Given the description of an element on the screen output the (x, y) to click on. 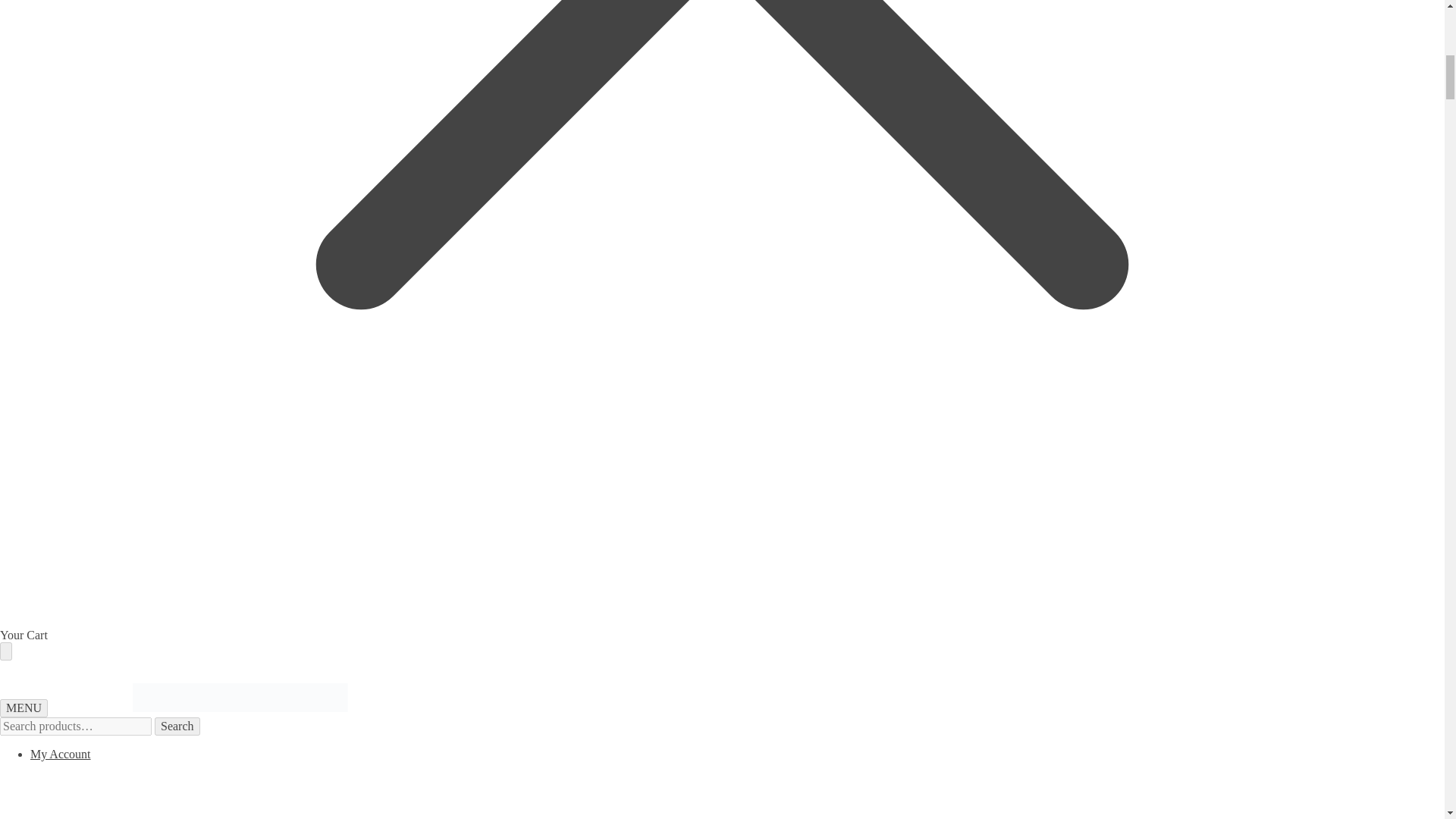
MENU (24, 708)
My Account (458, 783)
Search (177, 726)
